Given the description of an element on the screen output the (x, y) to click on. 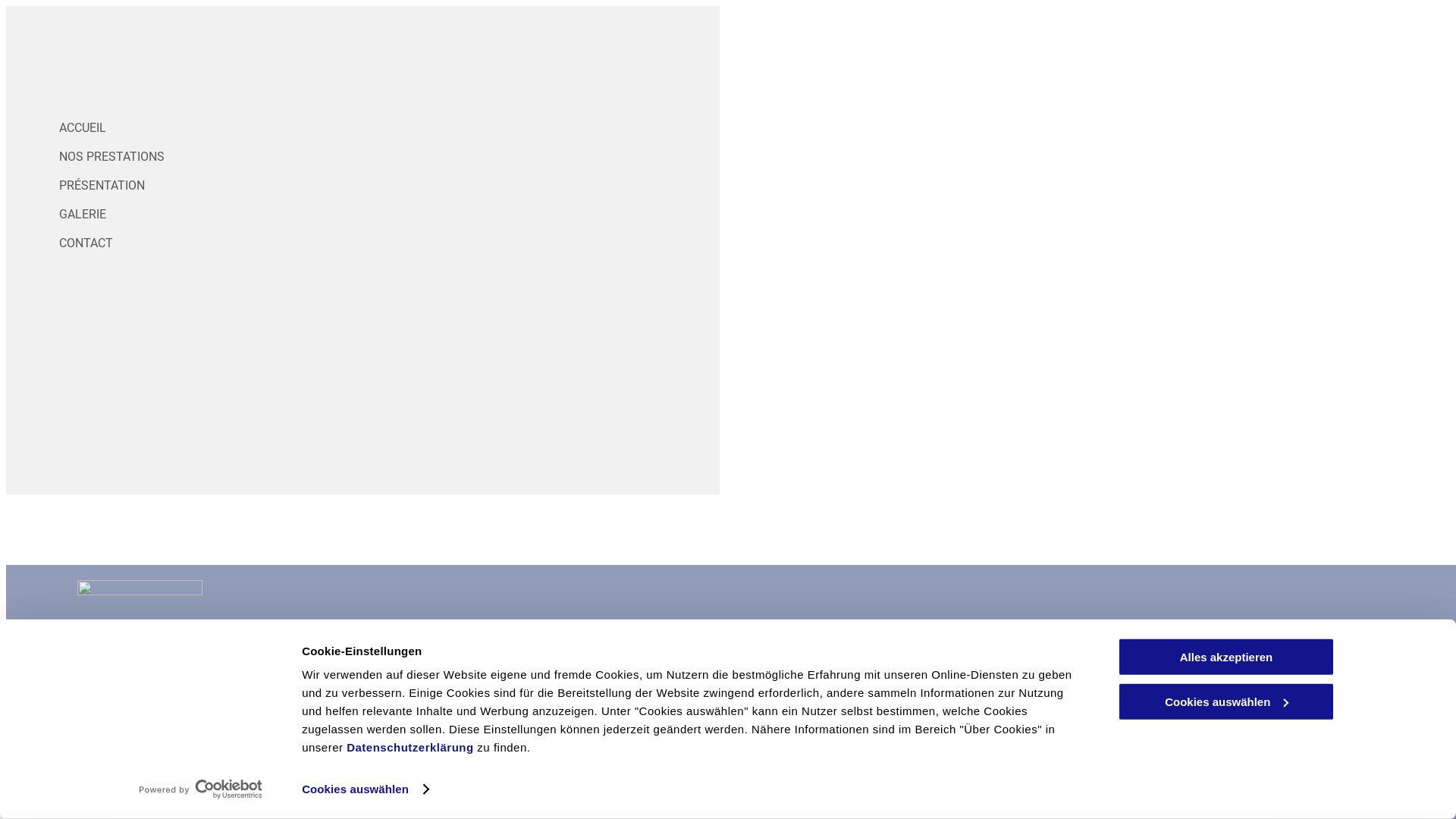
Alles akzeptieren Element type: text (1225, 656)
CONTACT Element type: text (392, 243)
GALERIE Element type: text (392, 214)
ACCUEIL Element type: text (392, 127)
NOS PRESTATIONS Element type: text (392, 156)
